Given the description of an element on the screen output the (x, y) to click on. 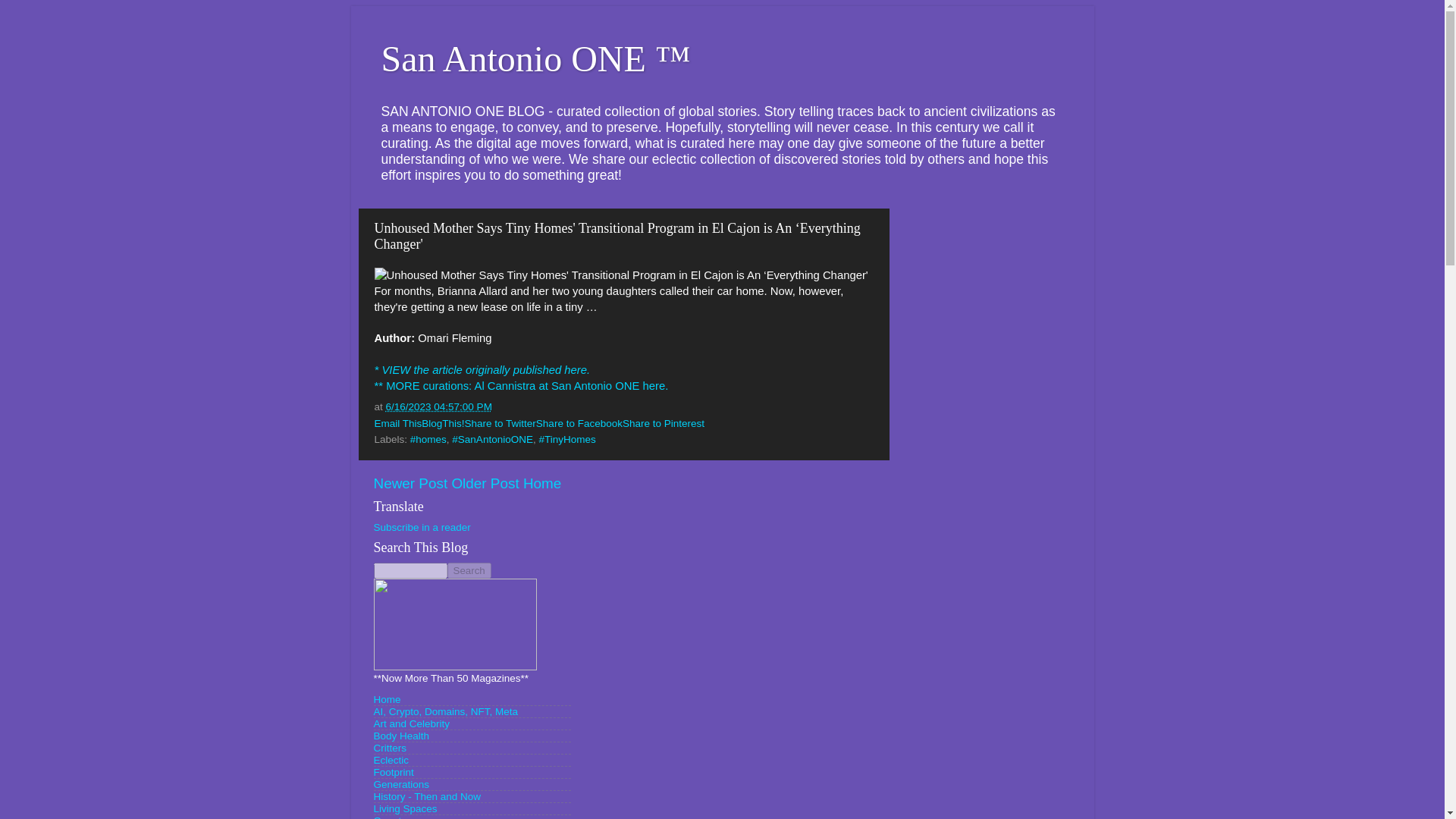
search (409, 570)
Newer Post (409, 483)
Share to Pinterest (663, 423)
Home (386, 699)
Search (469, 570)
Living Spaces (404, 808)
Older Post (484, 483)
Email This (398, 423)
search (469, 570)
Share to Facebook (579, 423)
Share to Twitter (499, 423)
Subscribe in a reader (421, 527)
permanent link (438, 406)
Share to Pinterest (663, 423)
Subscribe to my feed (421, 527)
